Given the description of an element on the screen output the (x, y) to click on. 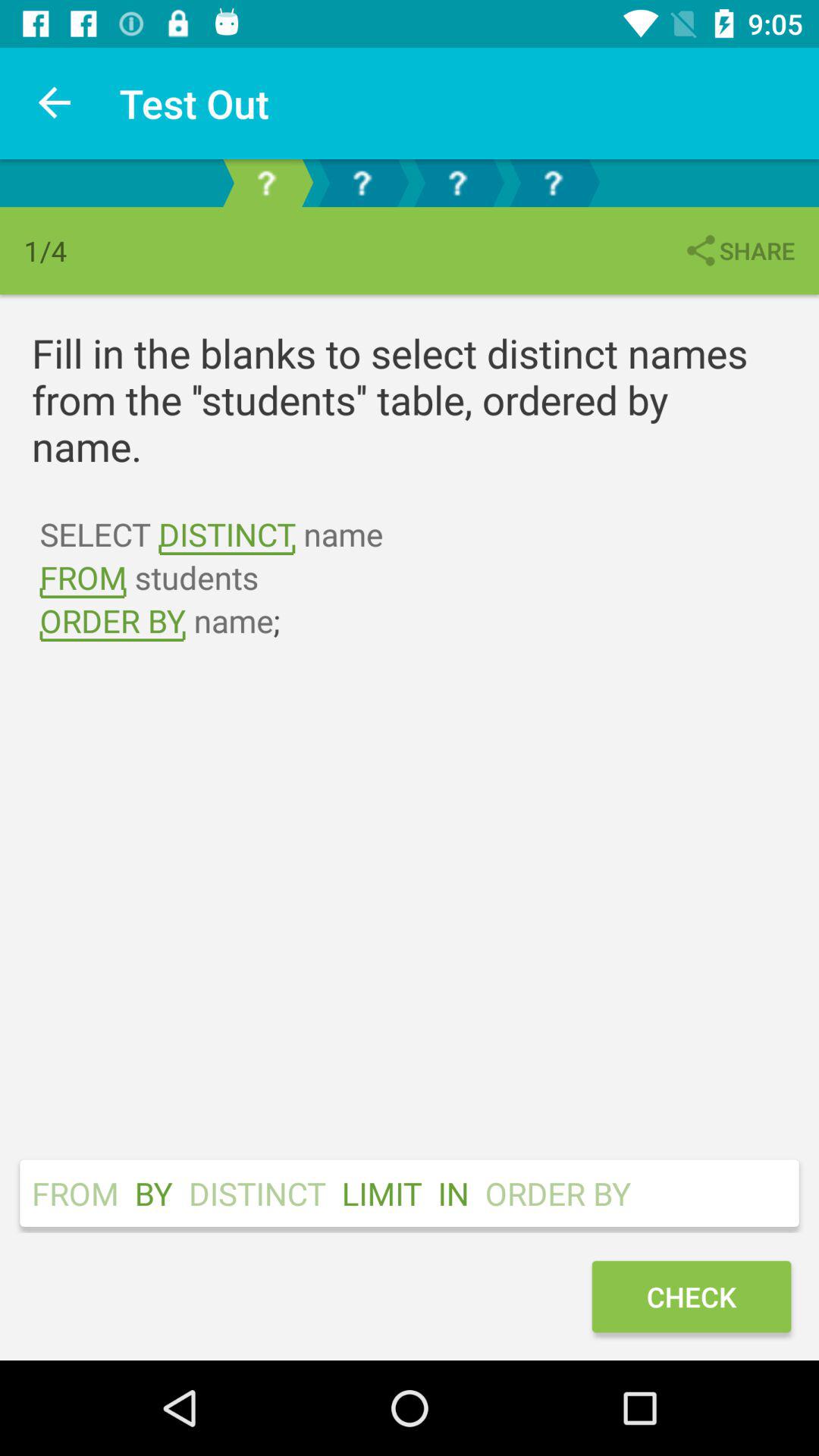
jump to share icon (738, 250)
